Given the description of an element on the screen output the (x, y) to click on. 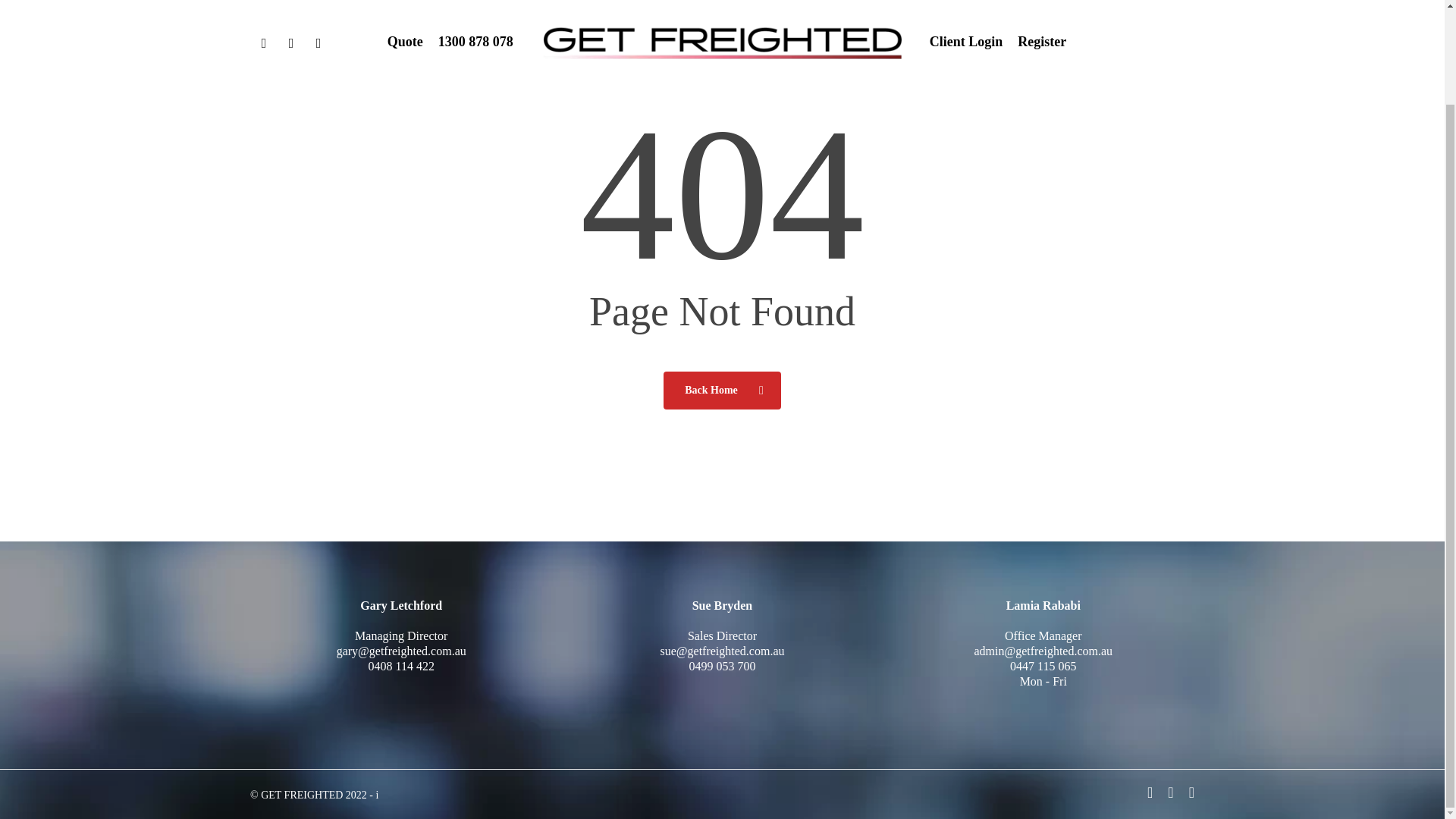
0408 114 422 (400, 666)
0447 115 065 (1042, 666)
0499 053 700 (721, 666)
Back Home (721, 389)
